Given the description of an element on the screen output the (x, y) to click on. 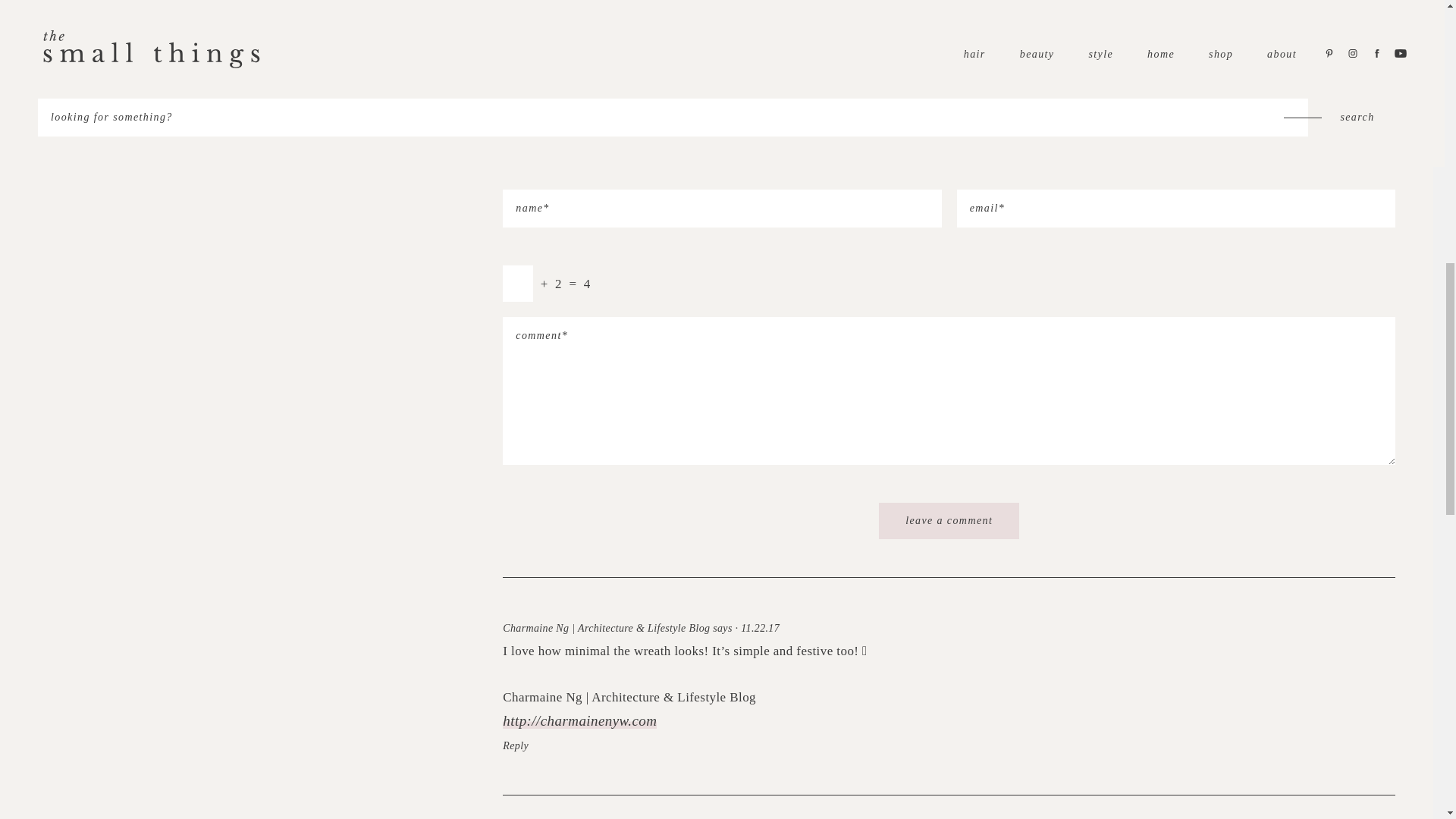
leave a comment (949, 520)
comfy clothes (658, 56)
leave a comment (949, 520)
this sweater (764, 56)
